Given the description of an element on the screen output the (x, y) to click on. 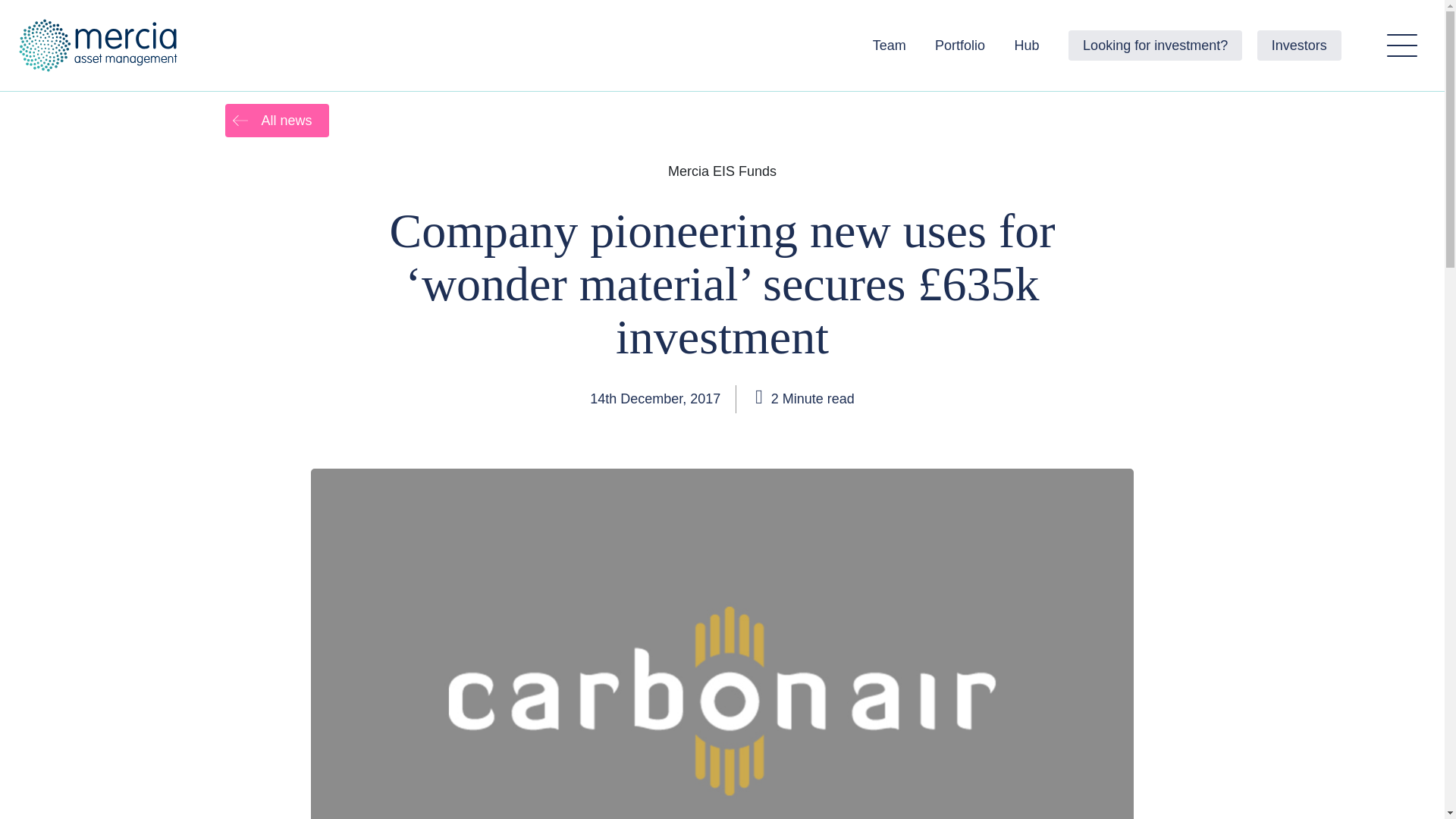
Team (888, 44)
Hub (1026, 44)
Investors (1298, 45)
Mercia (100, 45)
Looking for investment? (1154, 45)
Looking for investment? (1154, 45)
Investors (1298, 45)
Team (888, 44)
Portfolio (959, 44)
Portfolio (959, 44)
Hub (1026, 44)
